Given the description of an element on the screen output the (x, y) to click on. 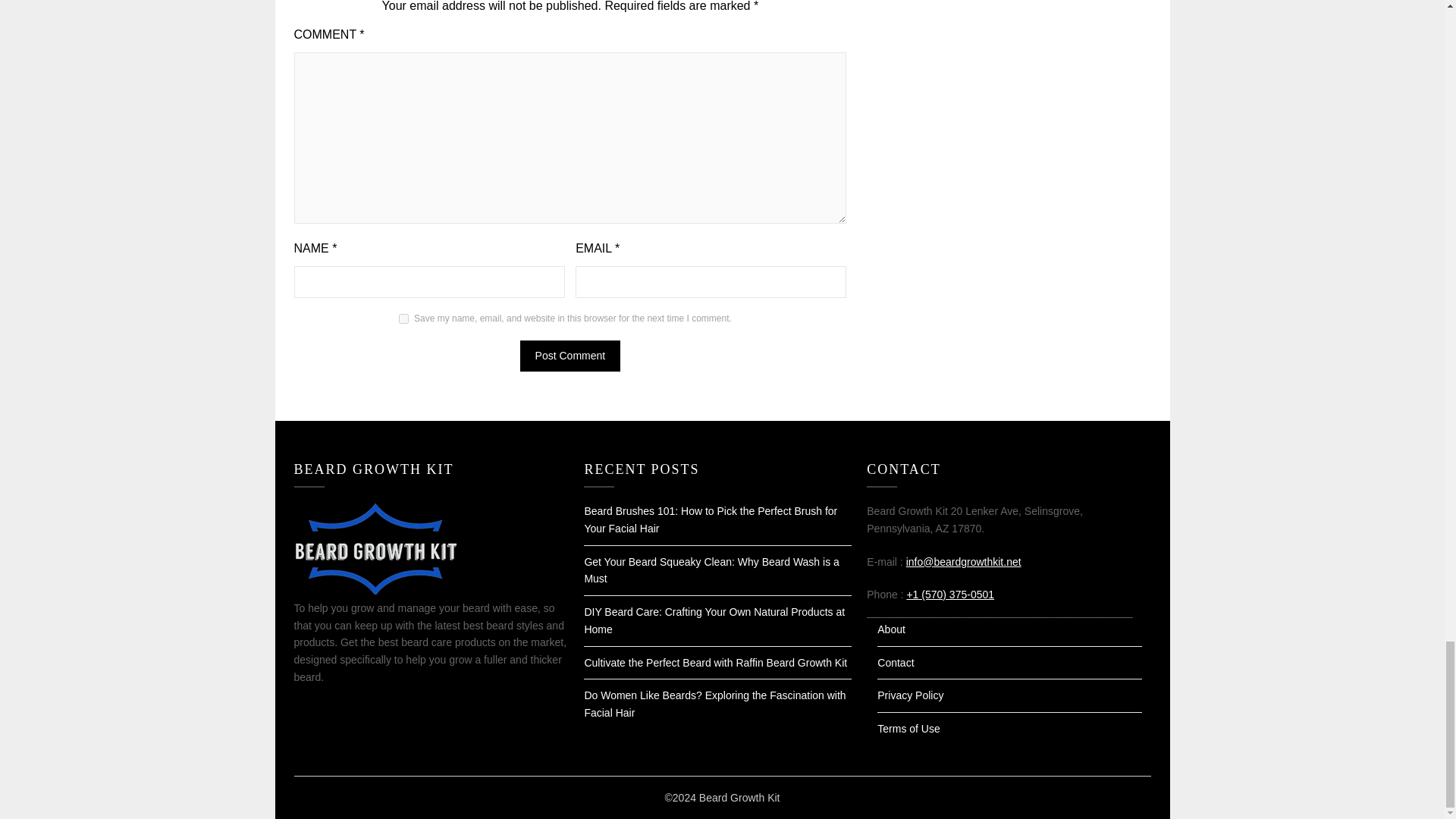
Post Comment (570, 355)
yes (403, 318)
Post Comment (570, 355)
